Given the description of an element on the screen output the (x, y) to click on. 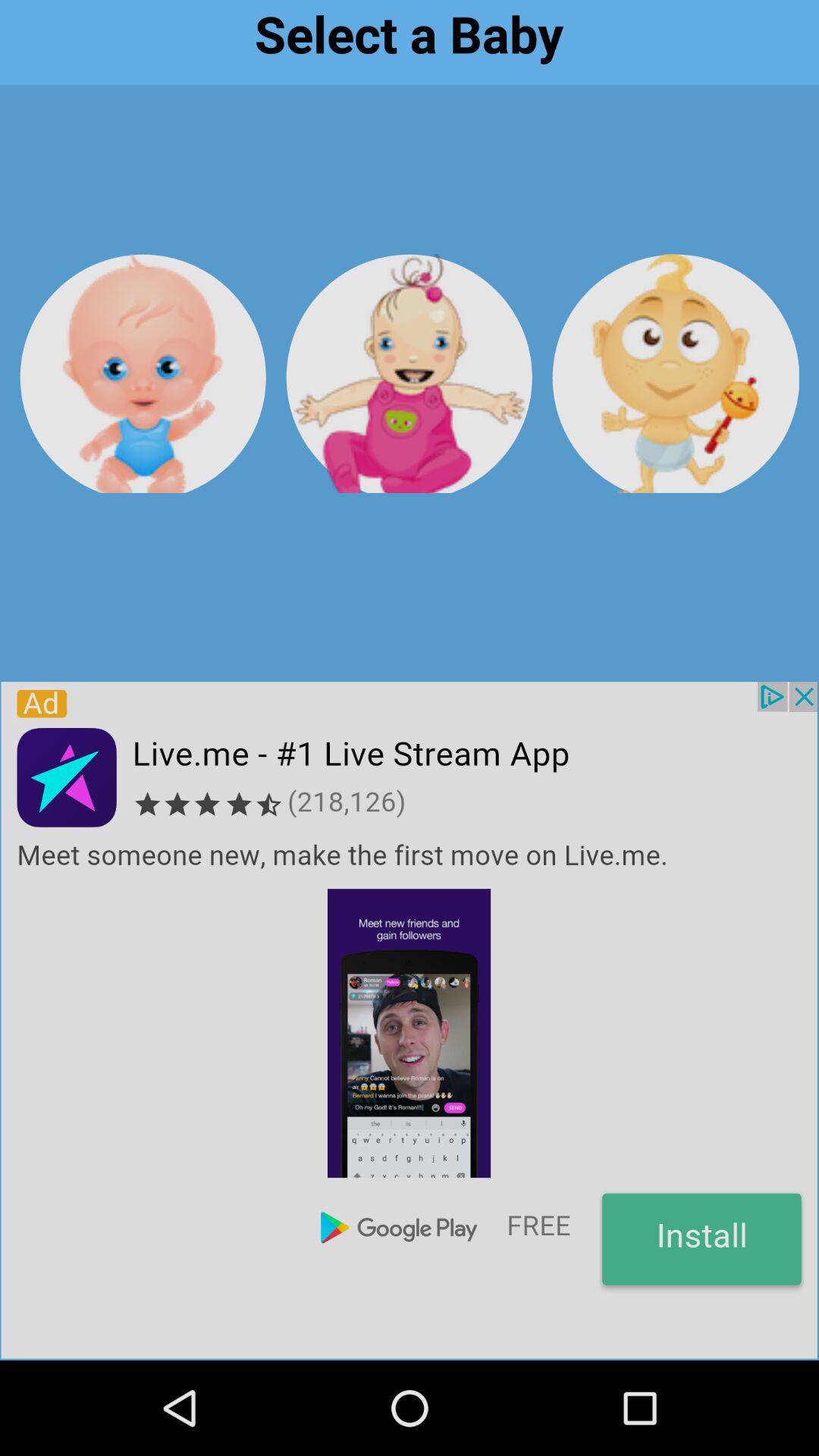
select baby (409, 373)
